Given the description of an element on the screen output the (x, y) to click on. 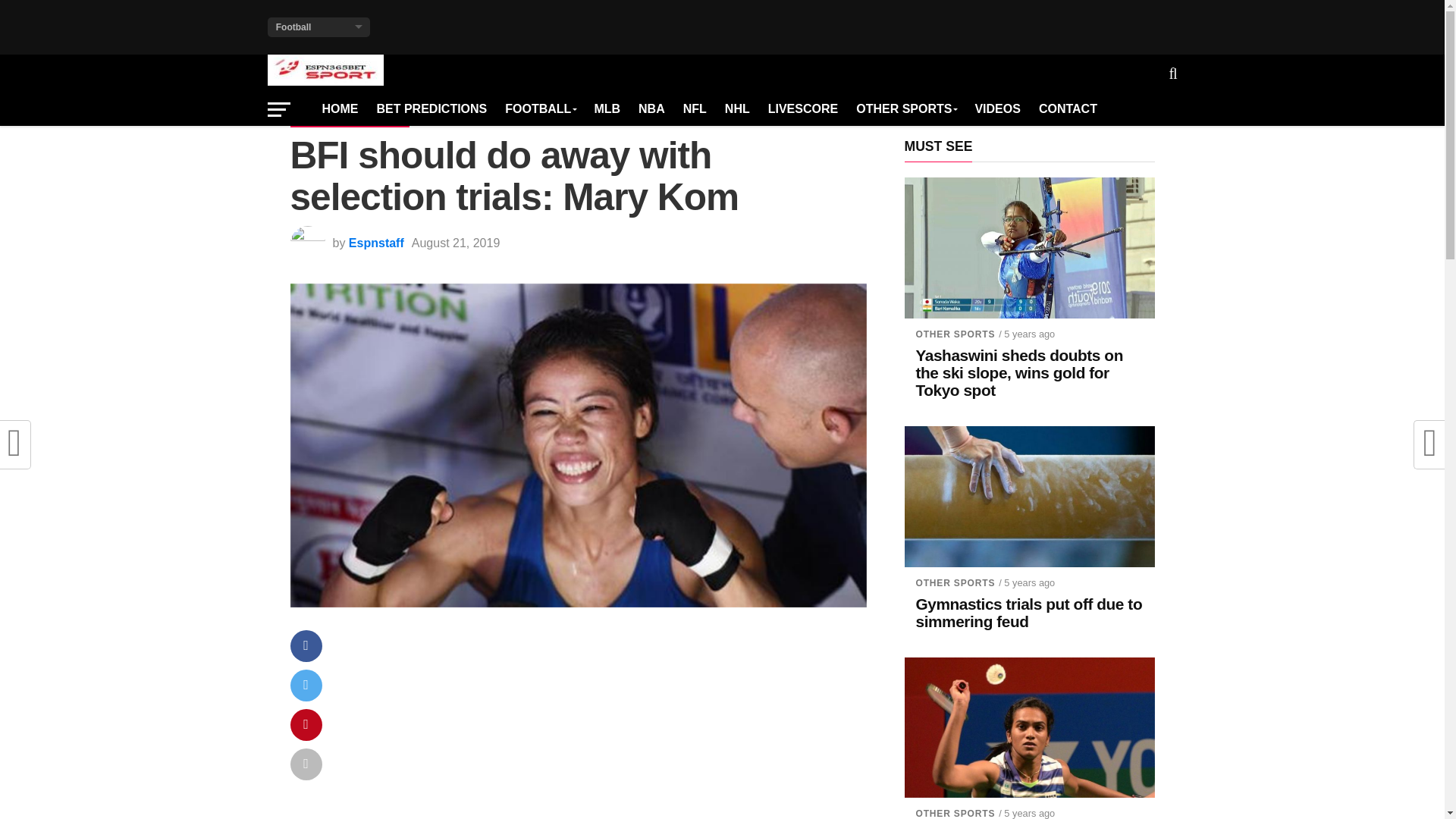
Advertisement (605, 728)
Posts by Espnstaff (376, 242)
BET PREDICTIONS (431, 109)
HOME (339, 109)
